Given the description of an element on the screen output the (x, y) to click on. 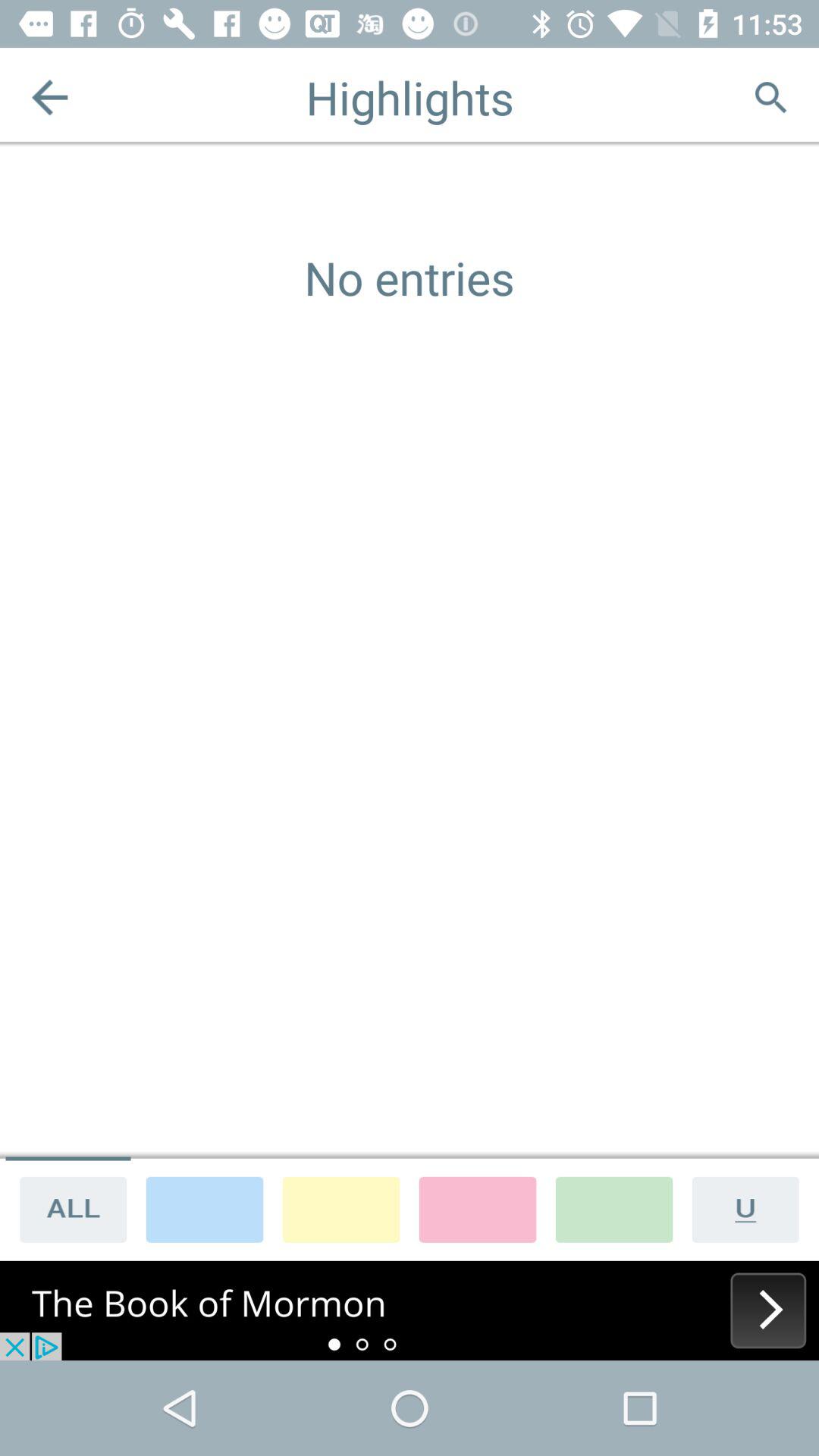
select highlight color (614, 1208)
